Given the description of an element on the screen output the (x, y) to click on. 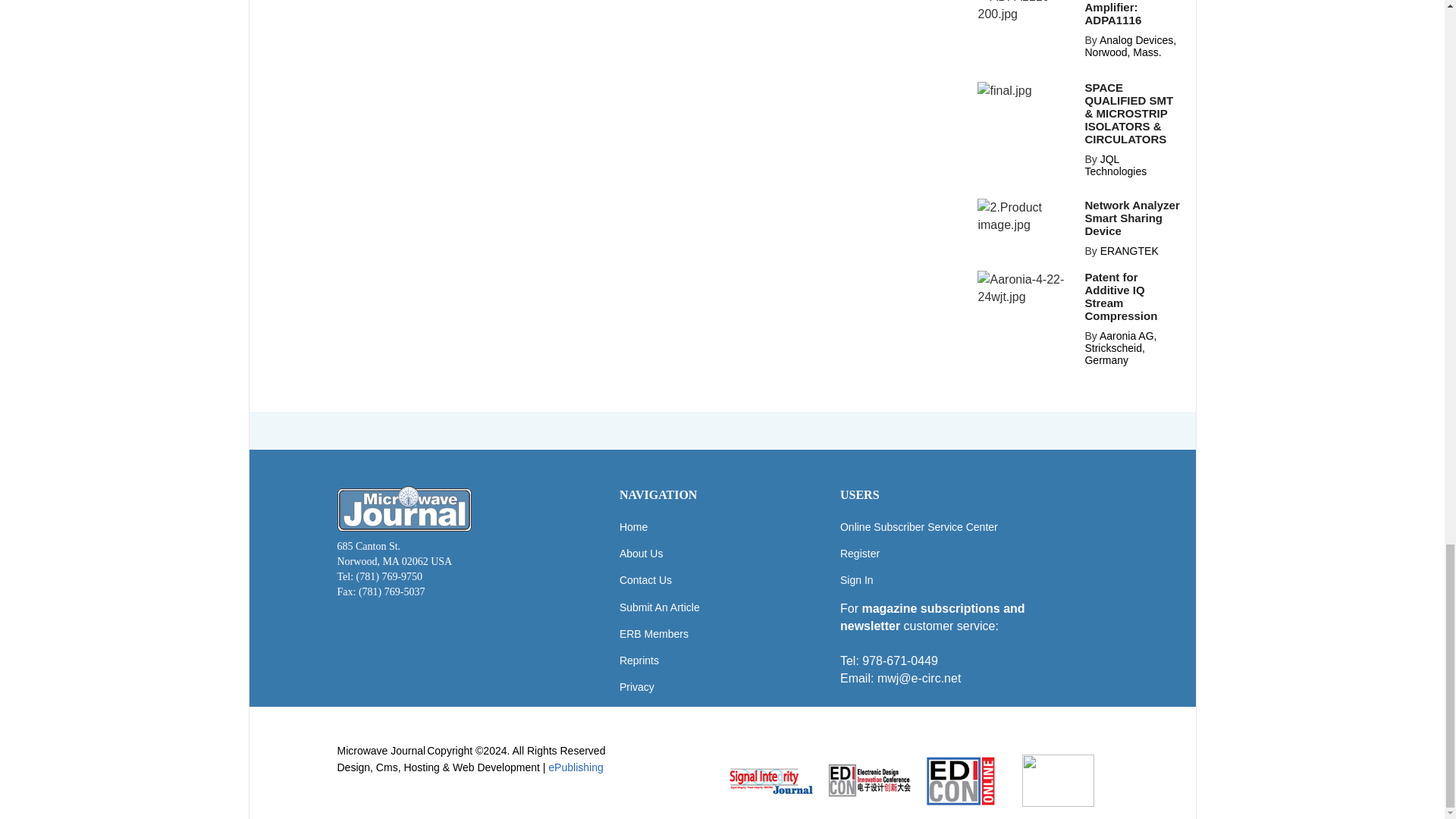
final.jpg (1003, 90)
Aaronia-4-22-24wjt.jpg (1025, 288)
ADPA1116 200.jpg (1025, 11)
2.Product image.jpg (1025, 216)
